Given the description of an element on the screen output the (x, y) to click on. 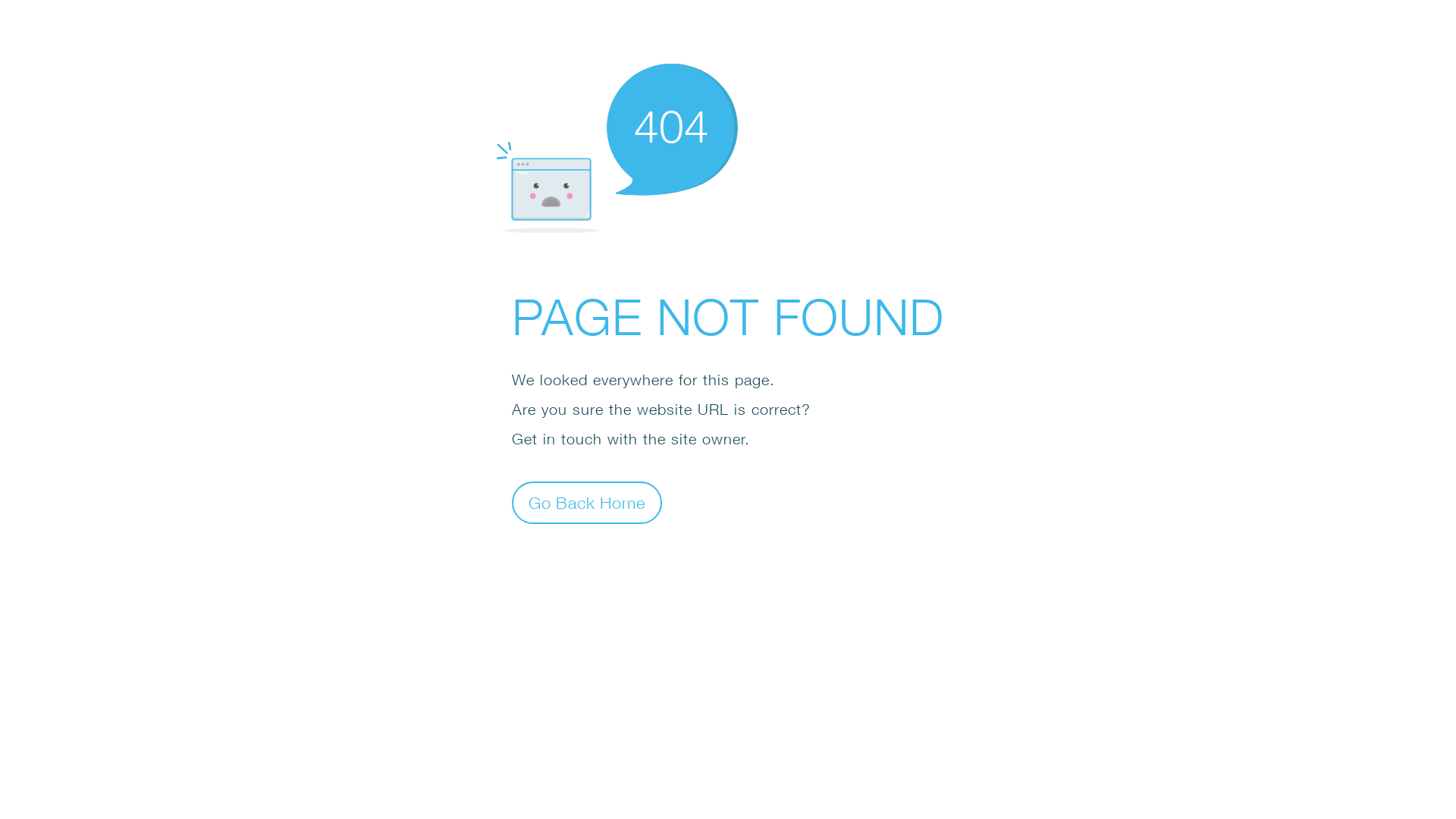
Go Back Home Element type: text (586, 502)
